Given the description of an element on the screen output the (x, y) to click on. 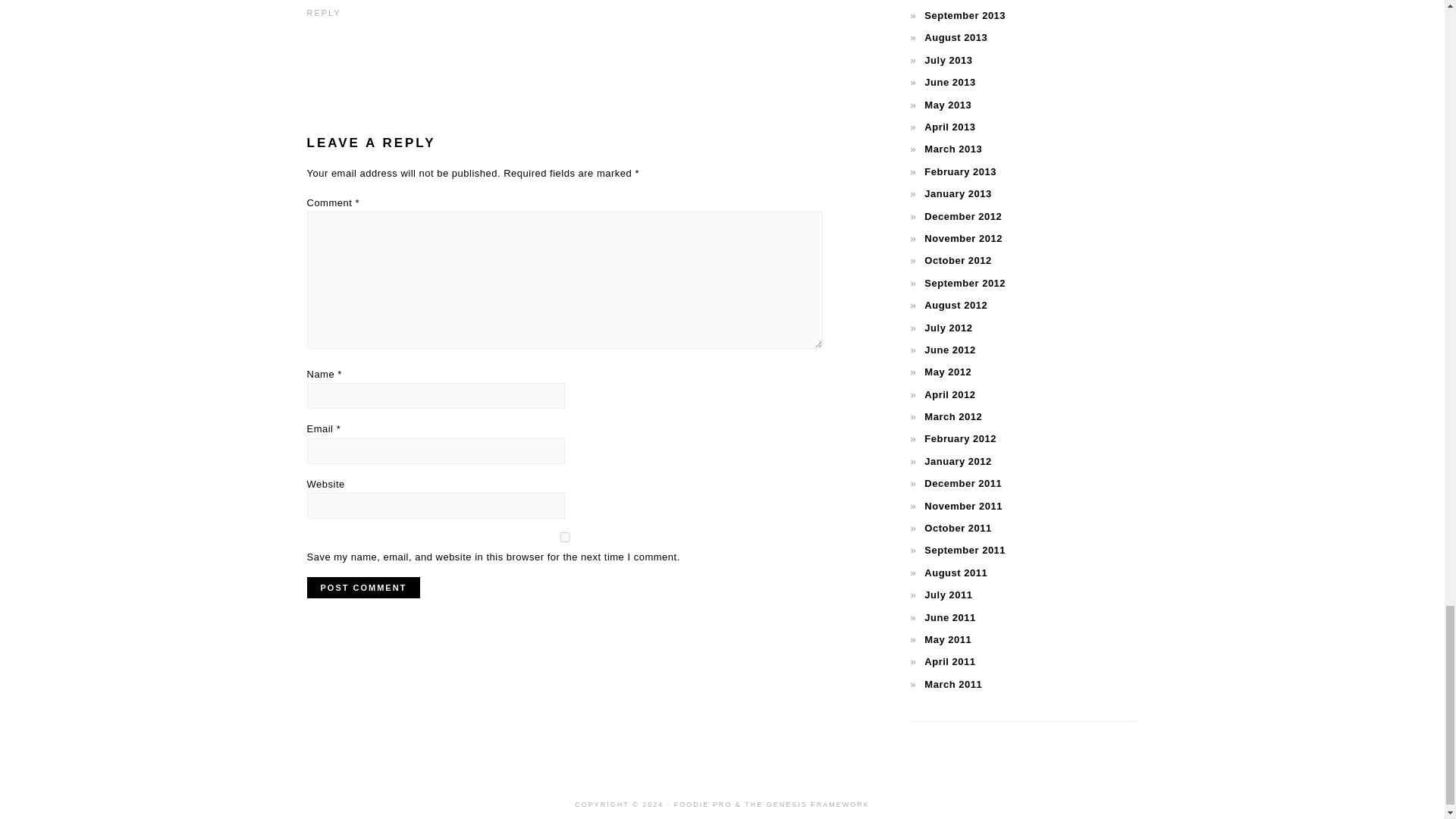
Post Comment (362, 587)
REPLY (322, 12)
yes (563, 537)
Post Comment (362, 587)
